Given the description of an element on the screen output the (x, y) to click on. 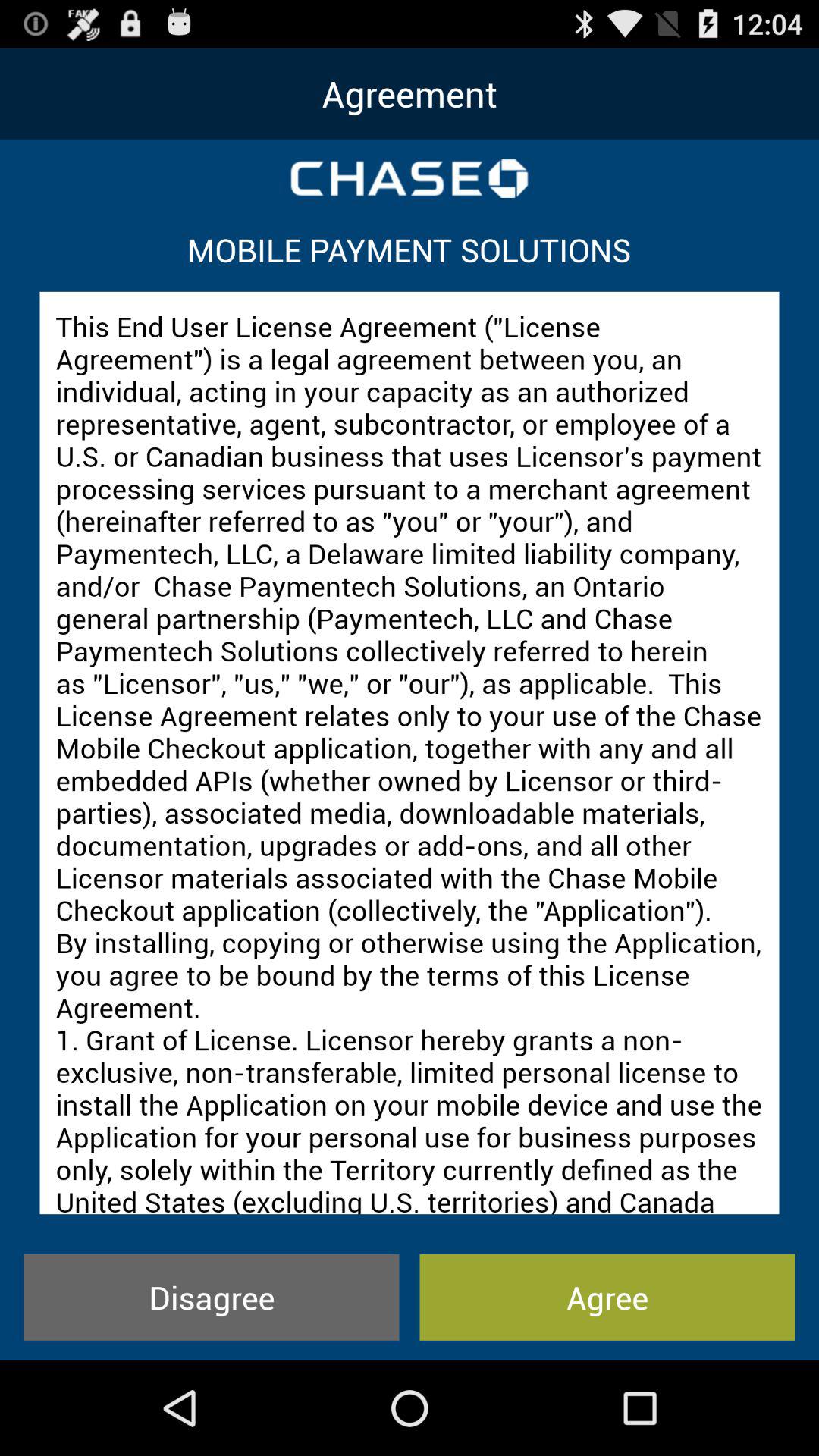
press agree icon (607, 1297)
